Given the description of an element on the screen output the (x, y) to click on. 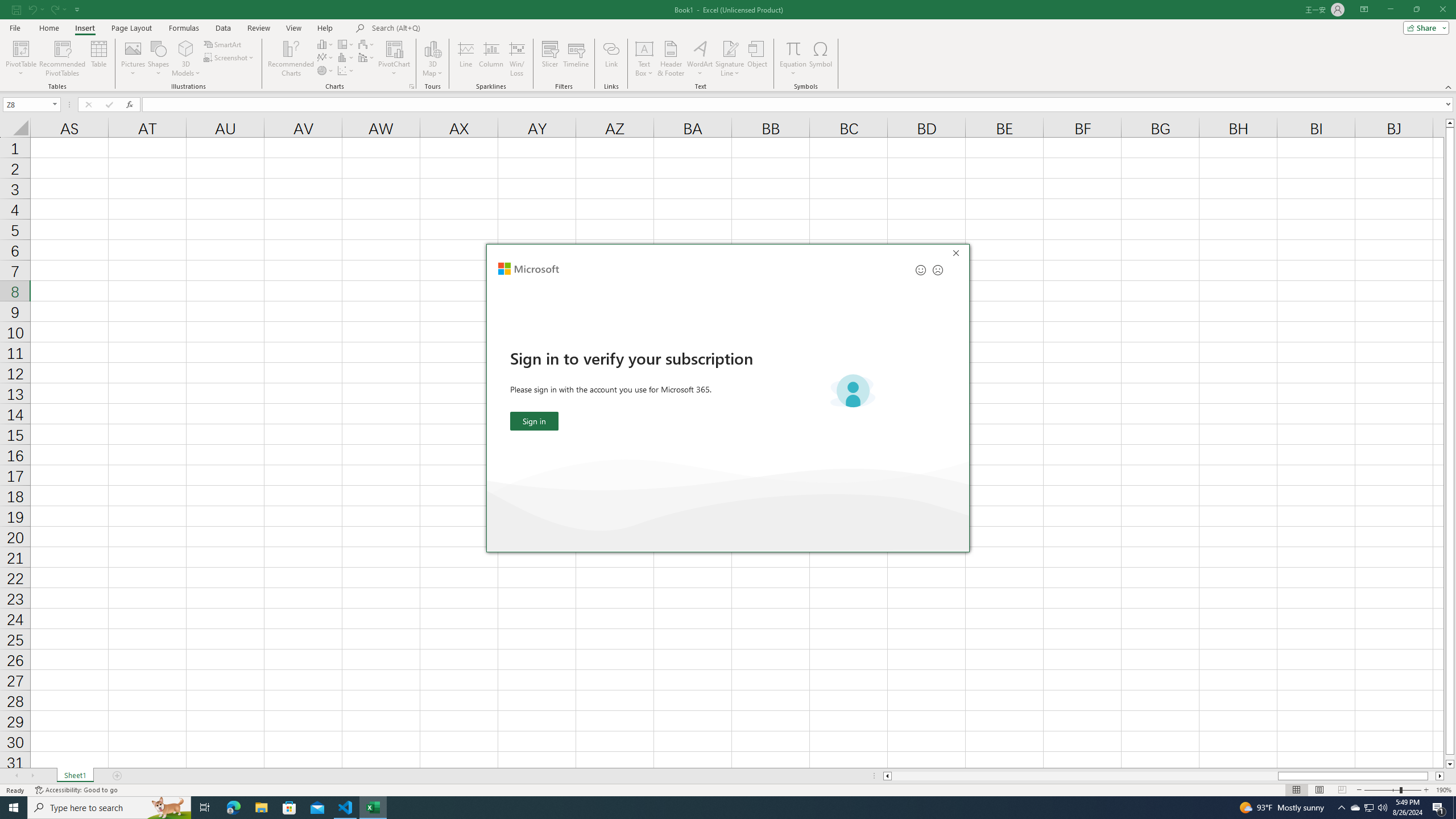
Table (98, 58)
Class: NetUIScrollBar (1163, 775)
Insert Pie or Doughnut Chart (325, 69)
Line up (1449, 122)
Send a smile for feedback (920, 269)
Excel - 1 running window (373, 807)
Type here to search (108, 807)
Win/Loss (516, 58)
Link (611, 58)
Customize Quick Access Toolbar (77, 9)
Send a frown for feedback (937, 269)
Page right (1431, 775)
Help (325, 28)
